Given the description of an element on the screen output the (x, y) to click on. 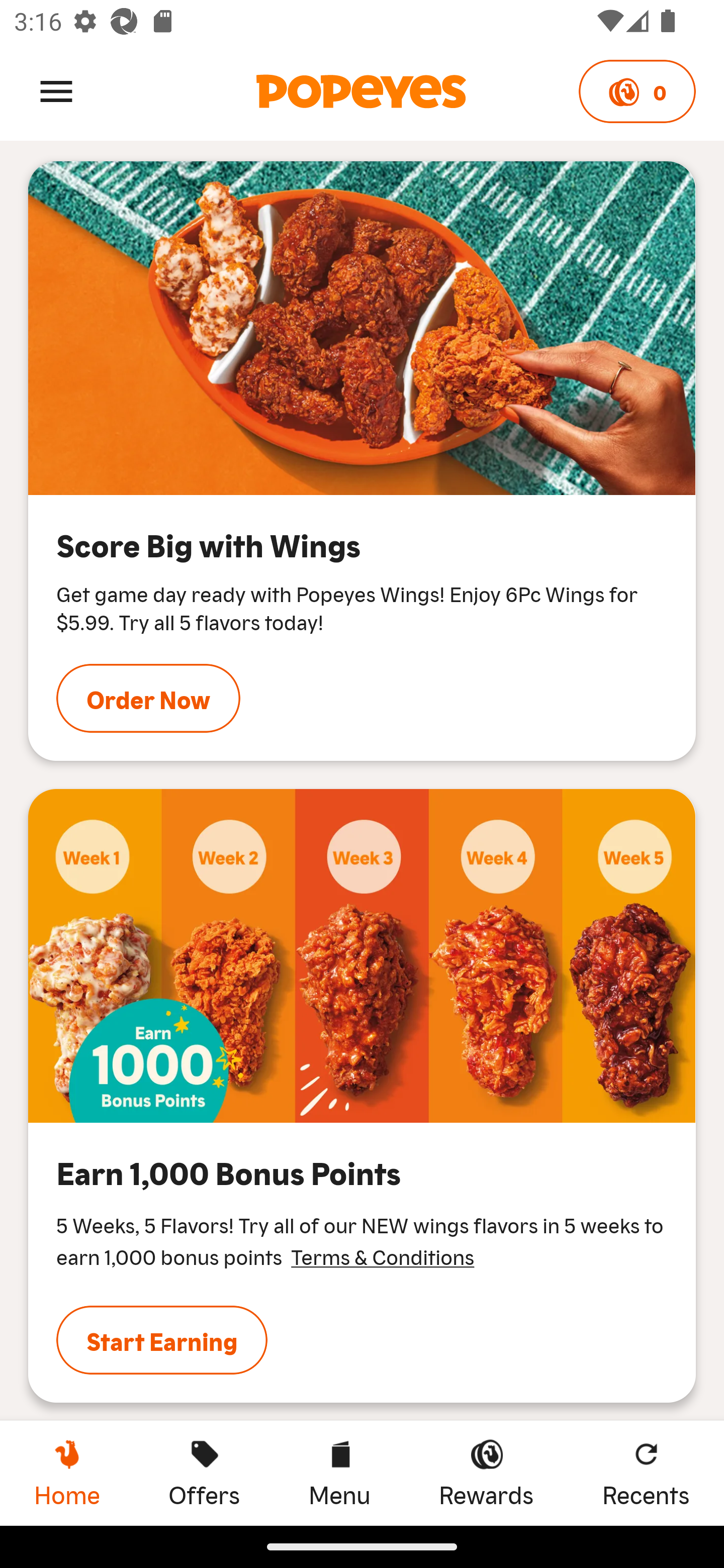
Menu  (56, 90)
0 Points 0 (636, 91)
Score Big with Wings (361, 328)
Order Now (148, 697)
Earn 1,000 Bonus Points (361, 955)
Start Earning (161, 1340)
Home, current page Home Home, current page (66, 1472)
Offers Offers Offers (203, 1472)
Menu Menu Menu (339, 1472)
Rewards Rewards Rewards (486, 1472)
Recents Recents Recents (646, 1472)
